Given the description of an element on the screen output the (x, y) to click on. 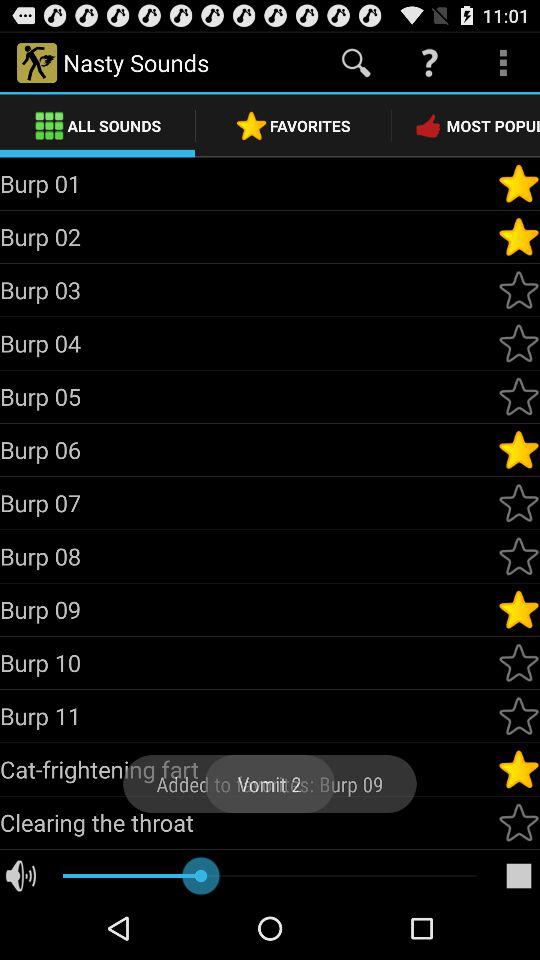
choose the icon above most popular app (503, 62)
